Given the description of an element on the screen output the (x, y) to click on. 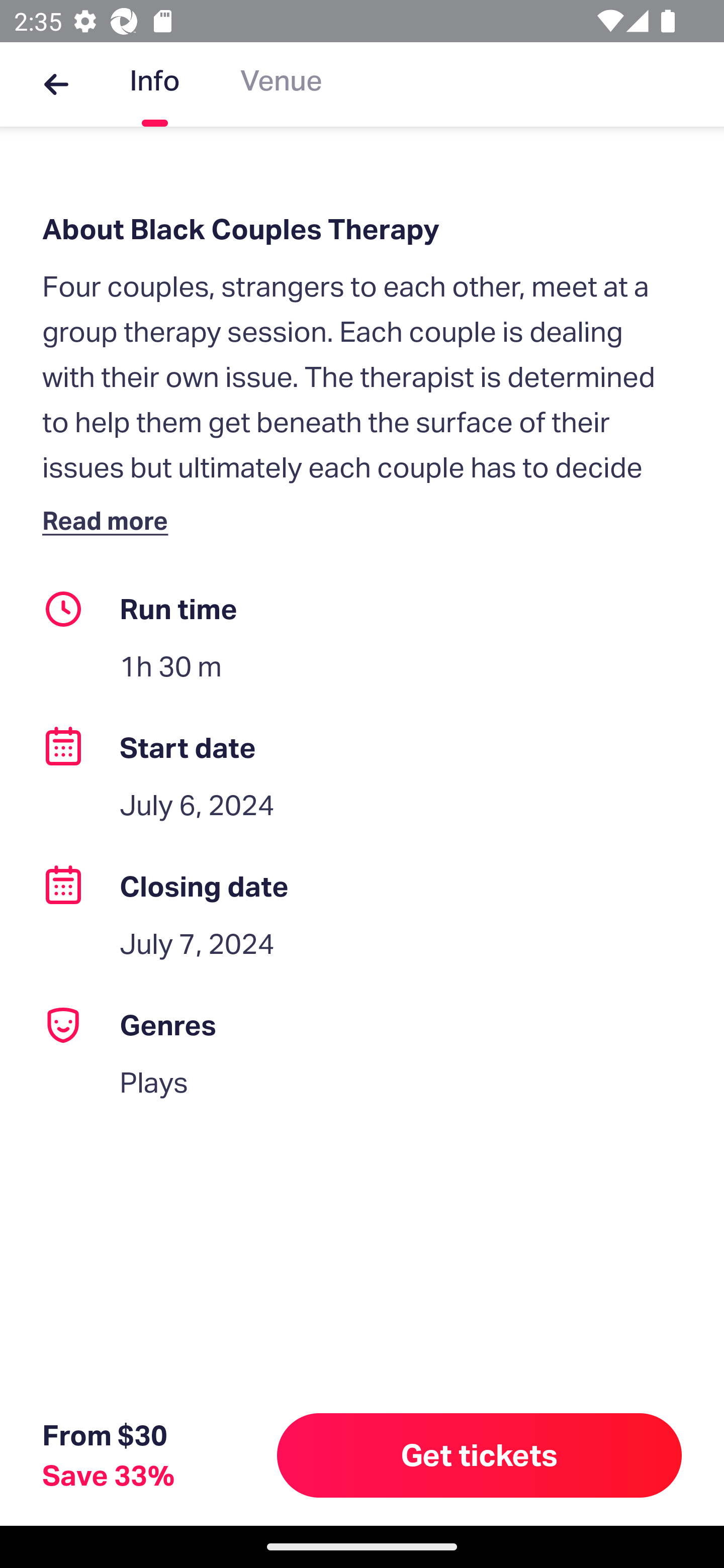
Venue (280, 84)
About Black Couples Therapy (361, 229)
Read more (109, 519)
Get tickets (479, 1454)
